Given the description of an element on the screen output the (x, y) to click on. 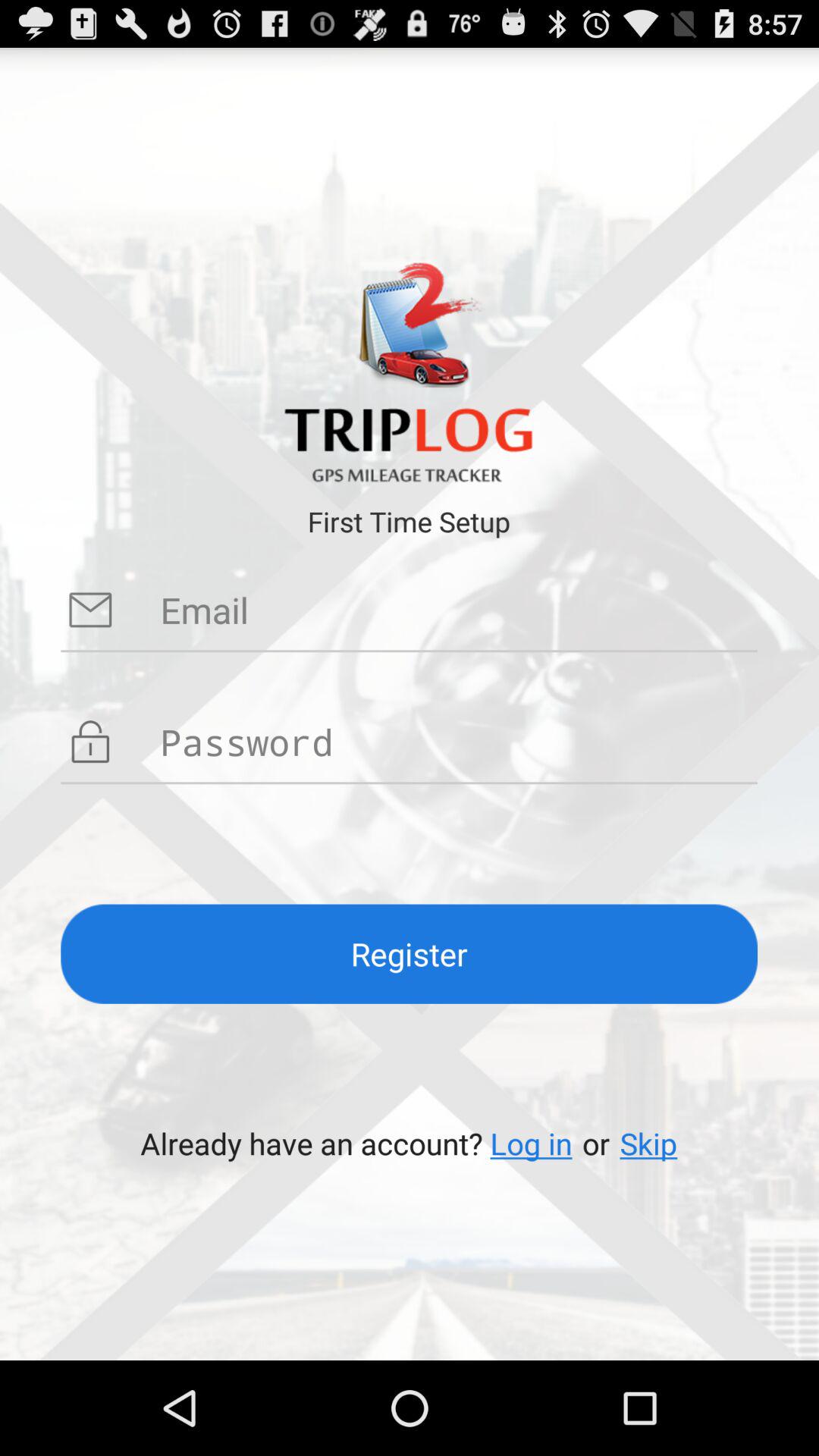
open the item to the right of already have an app (531, 1143)
